Given the description of an element on the screen output the (x, y) to click on. 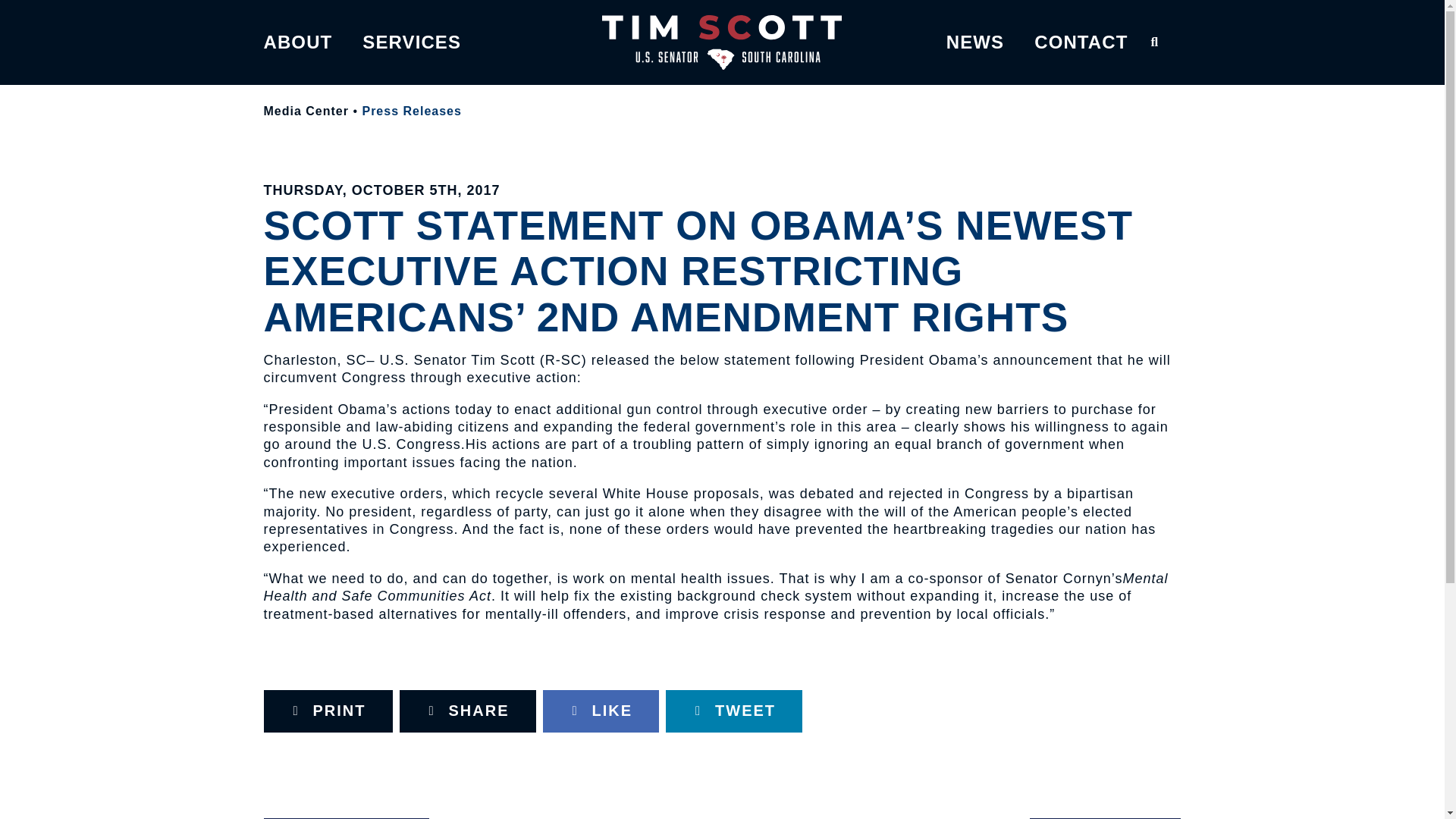
NEWS (975, 41)
CONTACT (1079, 41)
SERVICES (411, 41)
ABOUT (298, 41)
